Given the description of an element on the screen output the (x, y) to click on. 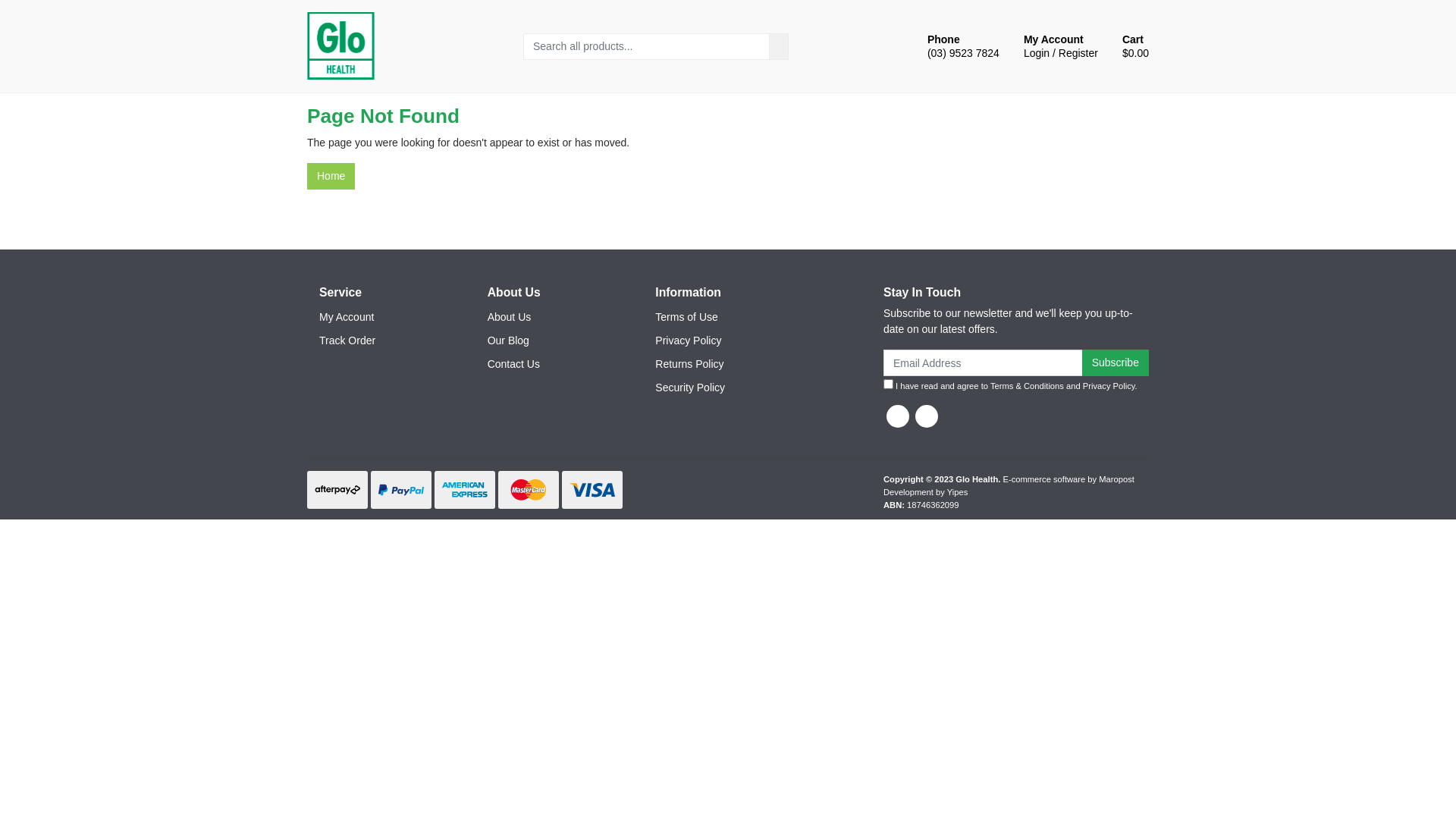
Glo Health Element type: hover (340, 45)
Phone
(03) 9523 7824 Element type: text (960, 45)
Search Element type: text (778, 46)
Terms & Conditions Element type: text (1026, 385)
Track Order Element type: text (379, 340)
Returns Policy Element type: text (715, 364)
My Account Element type: text (379, 317)
Security Policy Element type: text (715, 387)
Cart
$0.00 Element type: text (1132, 45)
My Account
Login / Register Element type: text (1057, 45)
Development by Yipes Element type: text (925, 491)
Privacy Policy Element type: text (1108, 385)
Contact Us Element type: text (548, 364)
E-commerce software by Maropost Element type: text (1067, 478)
Facebook Element type: text (897, 415)
Our Blog Element type: text (548, 340)
Home Element type: text (330, 175)
Skip to main content Element type: text (0, 0)
About Us Element type: text (548, 317)
Terms of Use Element type: text (715, 317)
Subscribe Element type: text (1115, 362)
Instagram Element type: text (926, 415)
Privacy Policy Element type: text (715, 340)
